Given the description of an element on the screen output the (x, y) to click on. 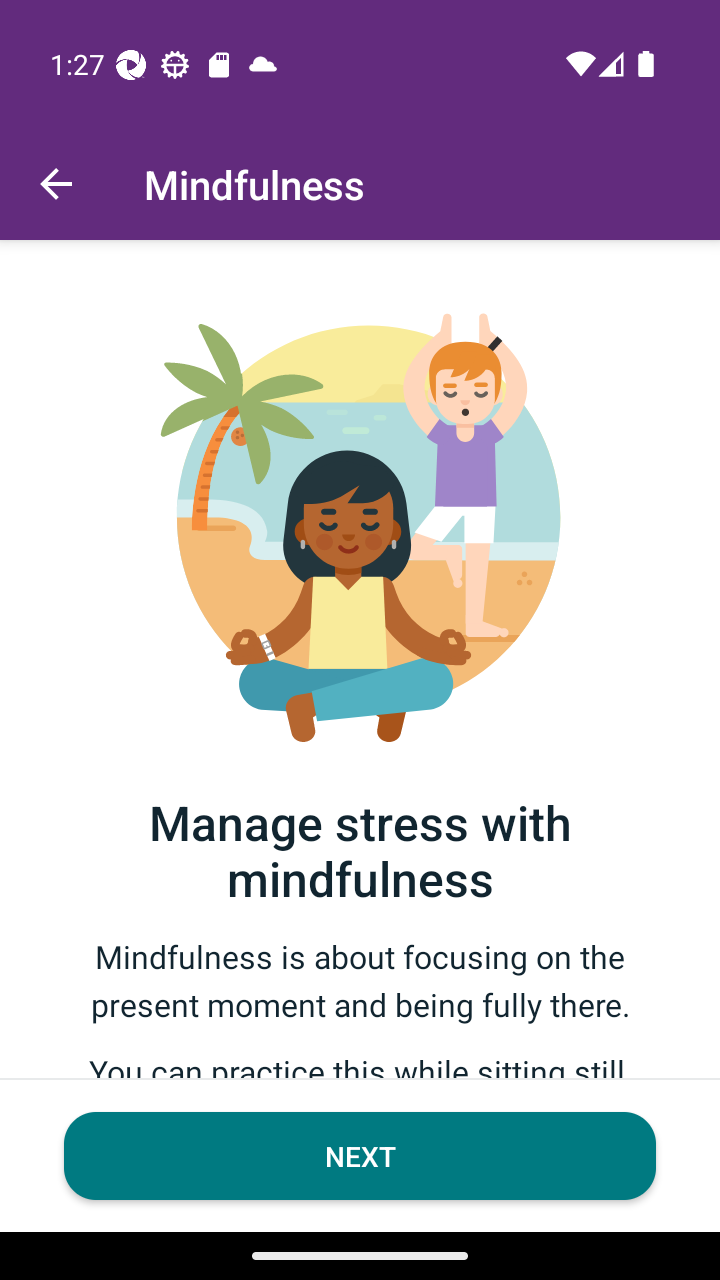
Navigate up (56, 184)
NEXT (359, 1156)
